Given the description of an element on the screen output the (x, y) to click on. 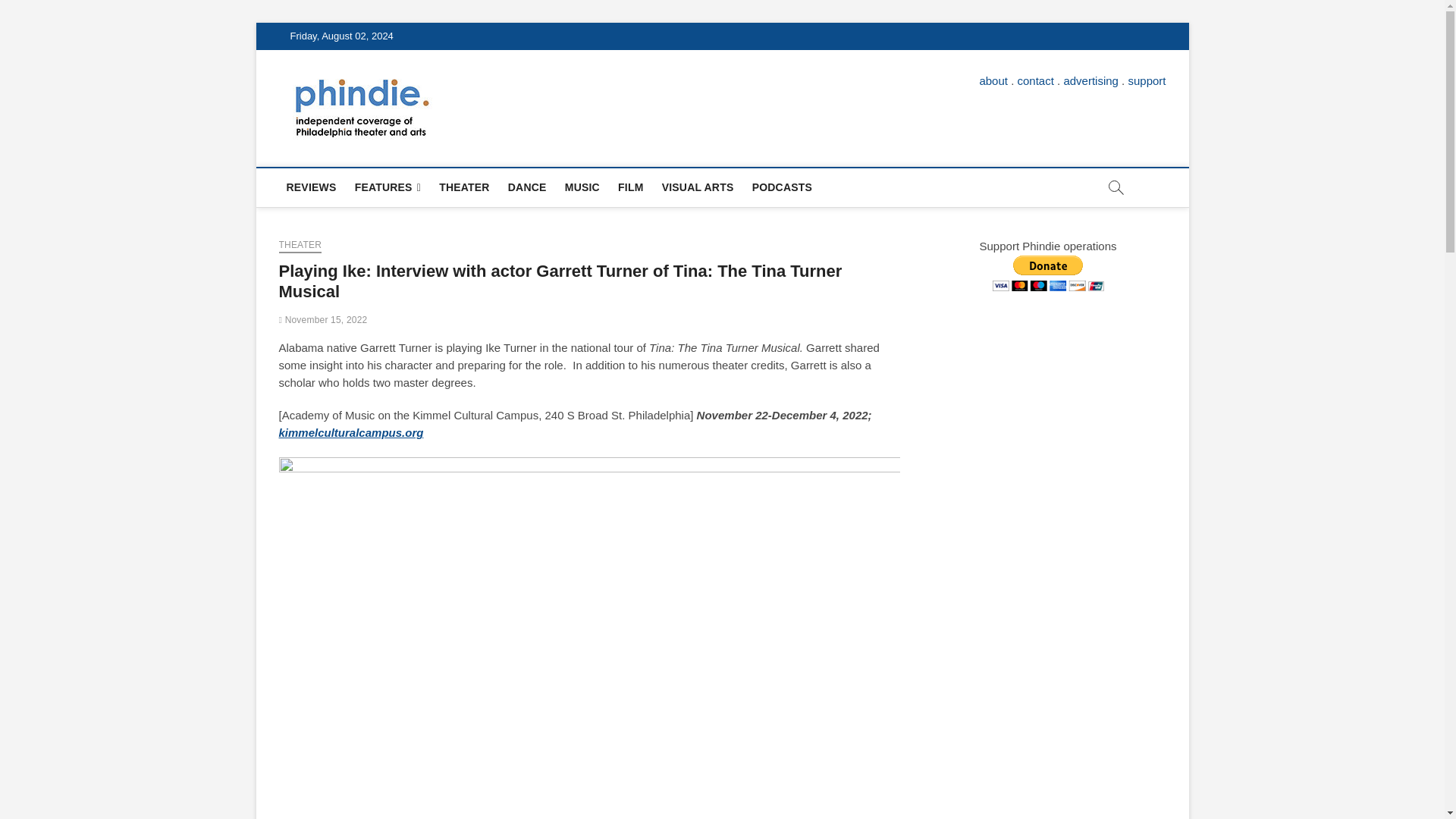
DANCE (527, 187)
MUSIC (582, 187)
PODCASTS (781, 187)
phindie (478, 100)
about (992, 80)
THEATER (300, 246)
support (1146, 80)
FILM (630, 187)
November 15, 2022 (323, 319)
phindie (478, 100)
FEATURES (387, 187)
advertising (1090, 80)
THEATER (463, 187)
contact (1035, 80)
